Given the description of an element on the screen output the (x, y) to click on. 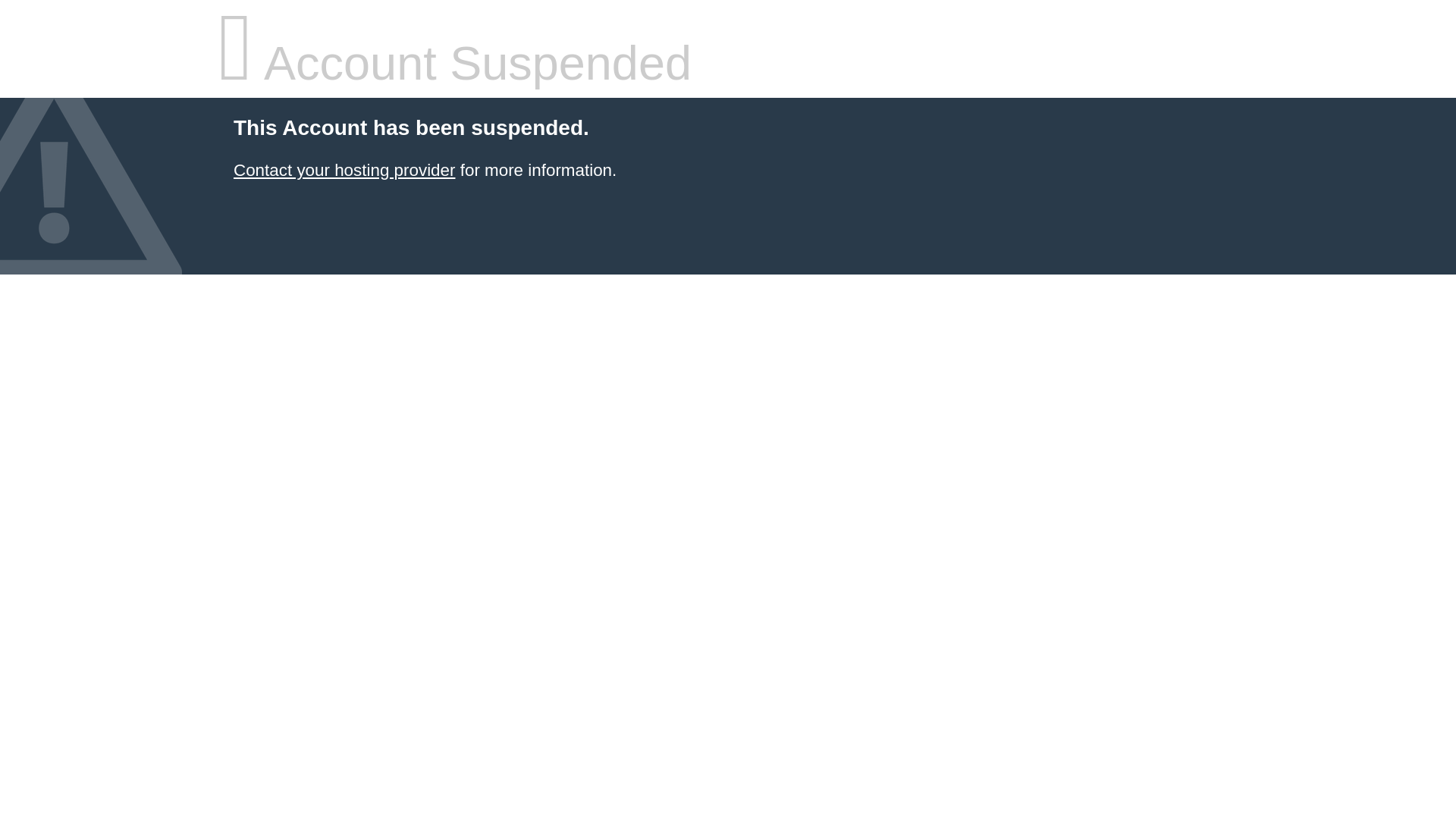
Contact your hosting provider (343, 169)
